Given the description of an element on the screen output the (x, y) to click on. 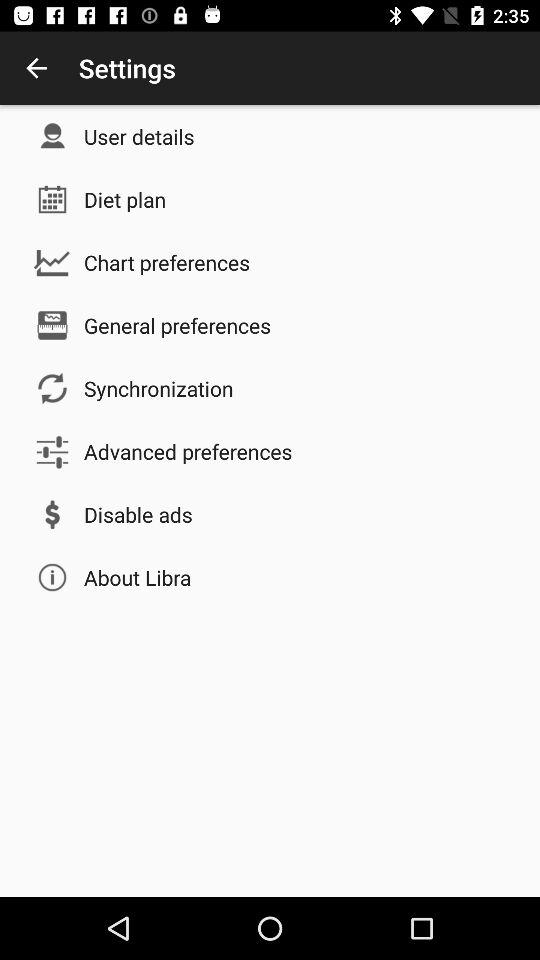
swipe to the general preferences icon (177, 325)
